Given the description of an element on the screen output the (x, y) to click on. 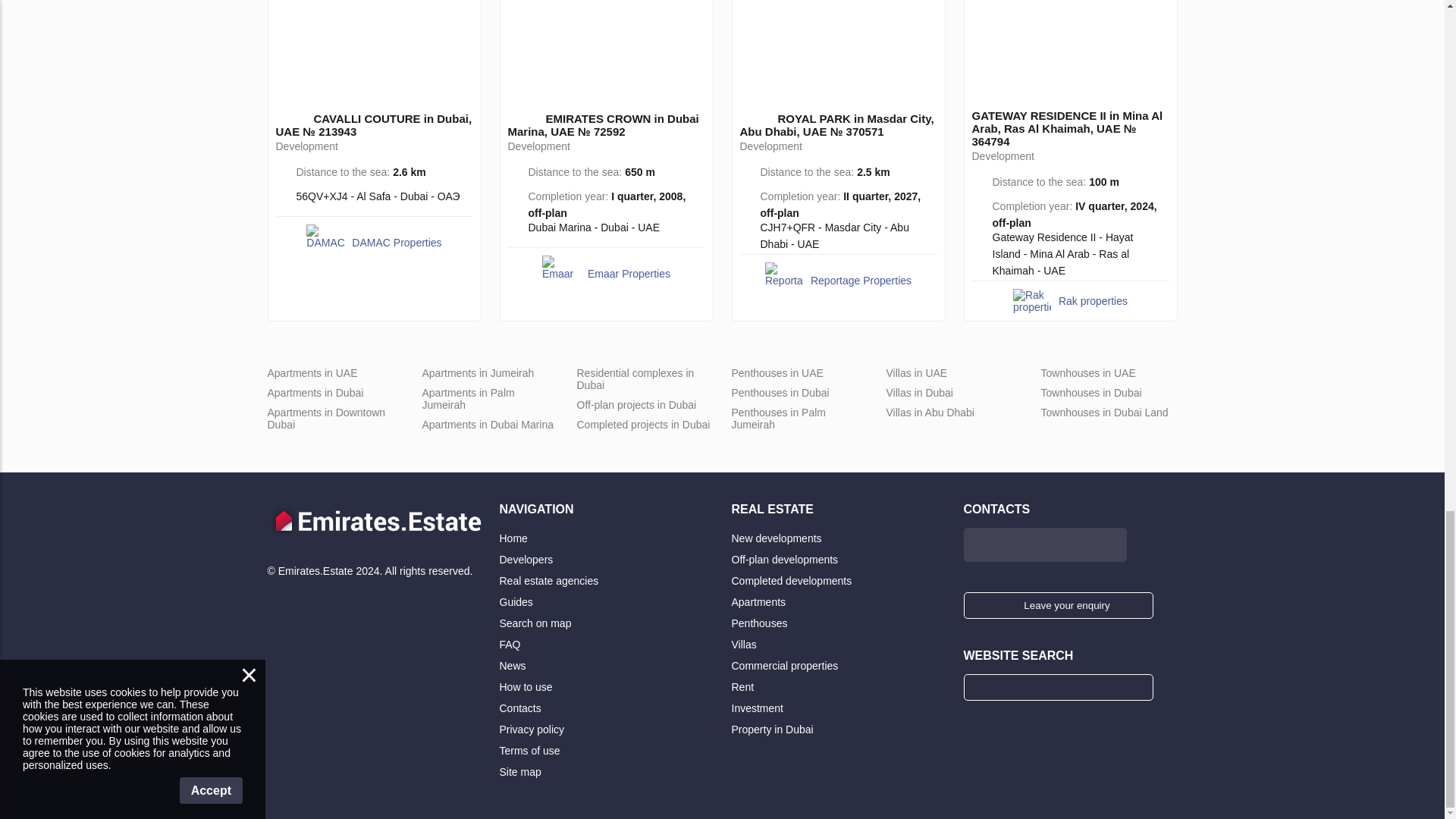
Verified developer (534, 116)
Popular developer (285, 116)
Verified developer (303, 116)
Popular developer (517, 116)
